Given the description of an element on the screen output the (x, y) to click on. 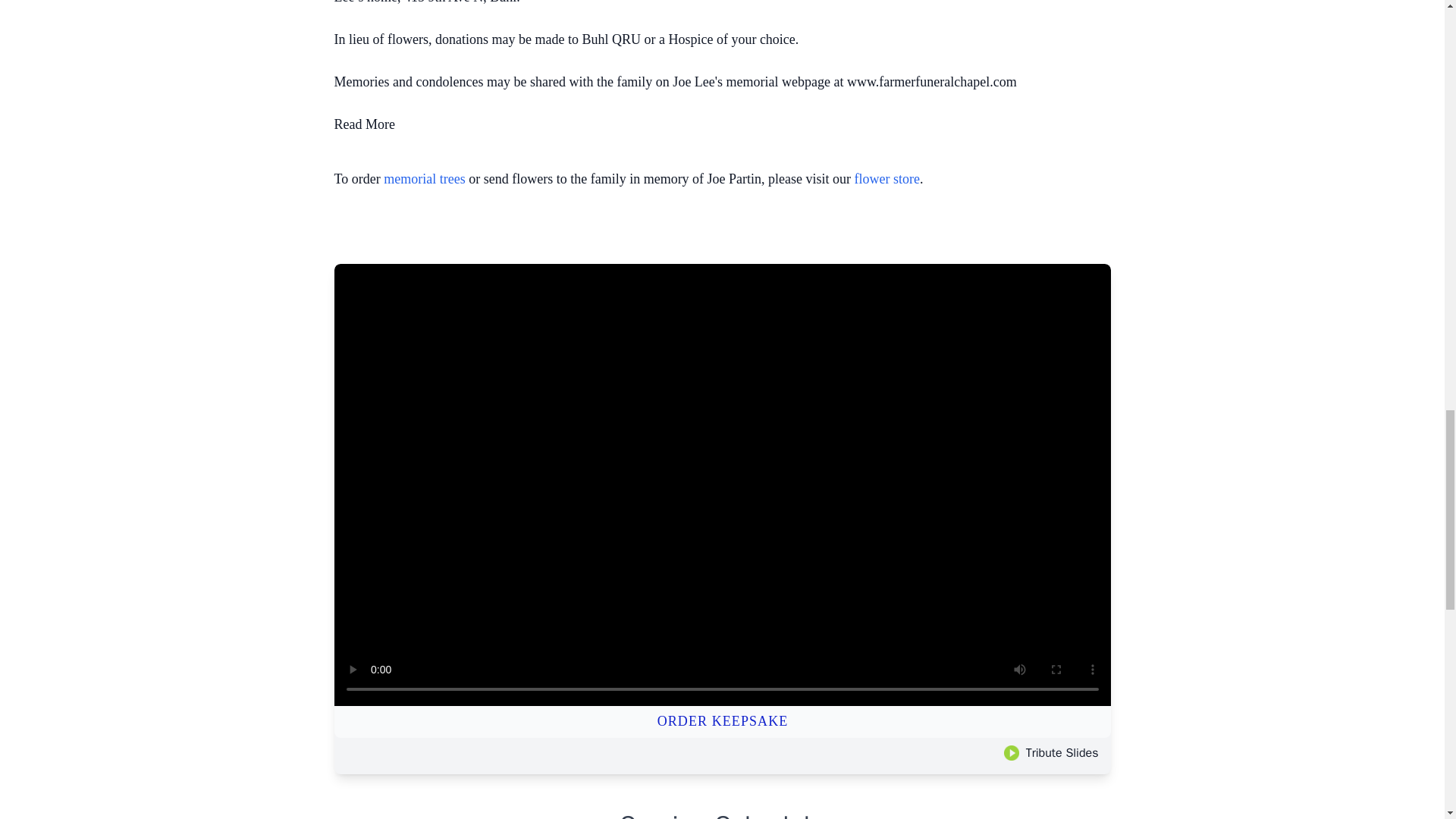
memorial trees (424, 178)
Read More (363, 124)
flower store (887, 178)
